Given the description of an element on the screen output the (x, y) to click on. 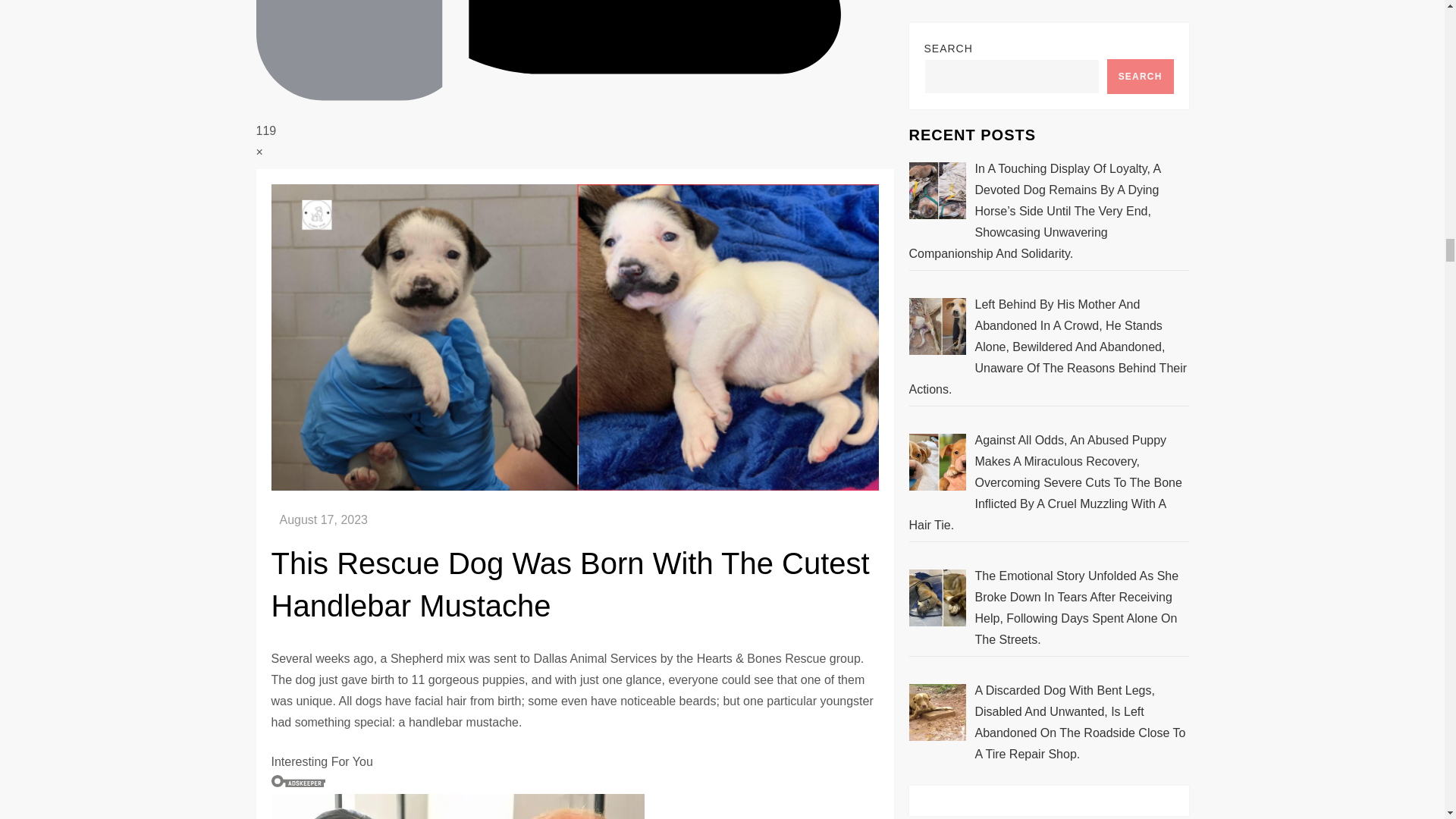
August 17, 2023 (323, 519)
